Given the description of an element on the screen output the (x, y) to click on. 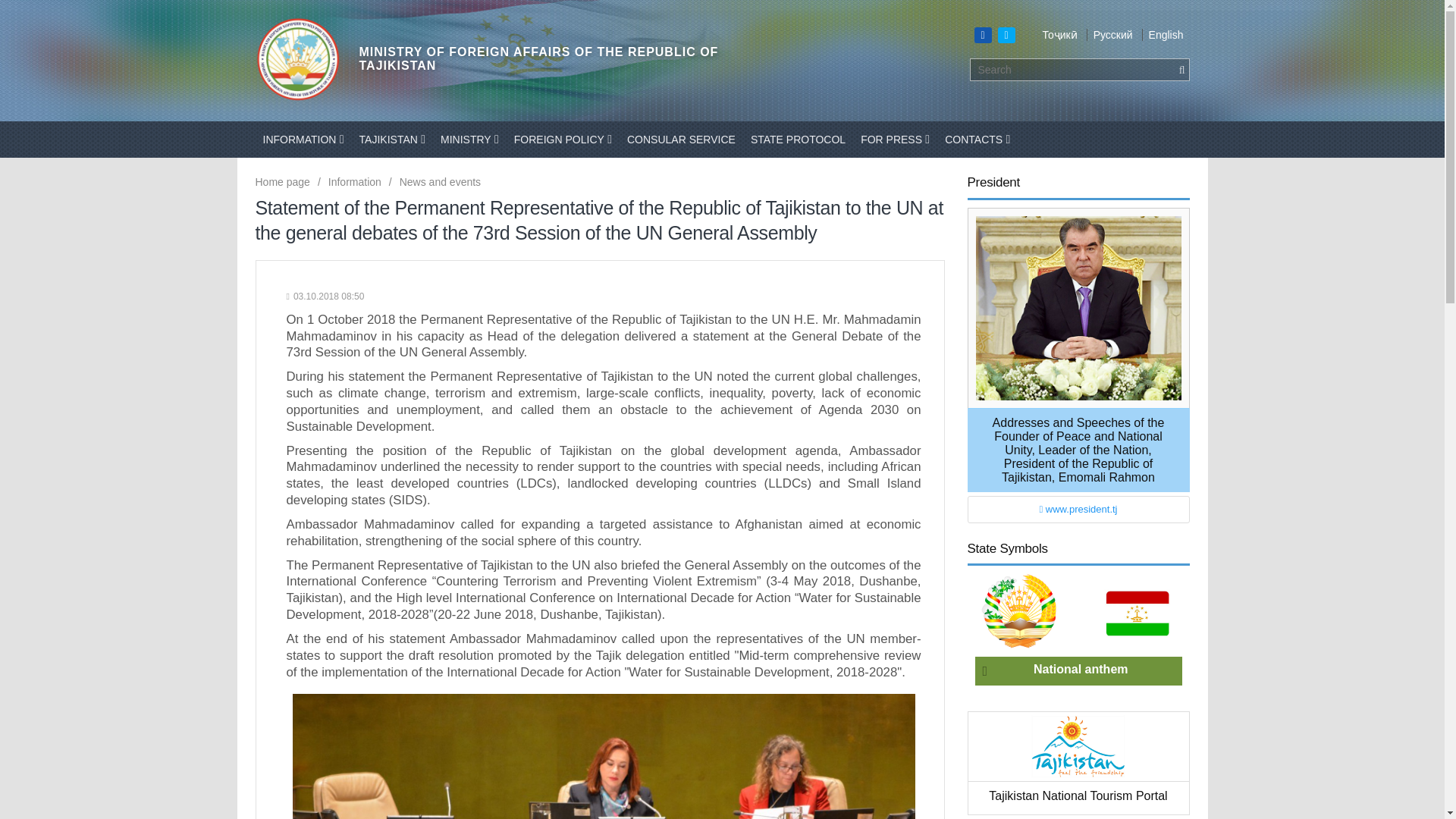
INFORMATION (302, 139)
FOREIGN POLICY (563, 139)
English (1163, 34)
English (1163, 34)
MINISTRY OF FOREIGN AFFAIRS OF THE REPUBLIC OF TAJIKISTAN (488, 58)
Information (302, 139)
Ministry (469, 139)
MINISTRY (469, 139)
TAJIKISTAN (392, 139)
Tajikistan (392, 139)
